Given the description of an element on the screen output the (x, y) to click on. 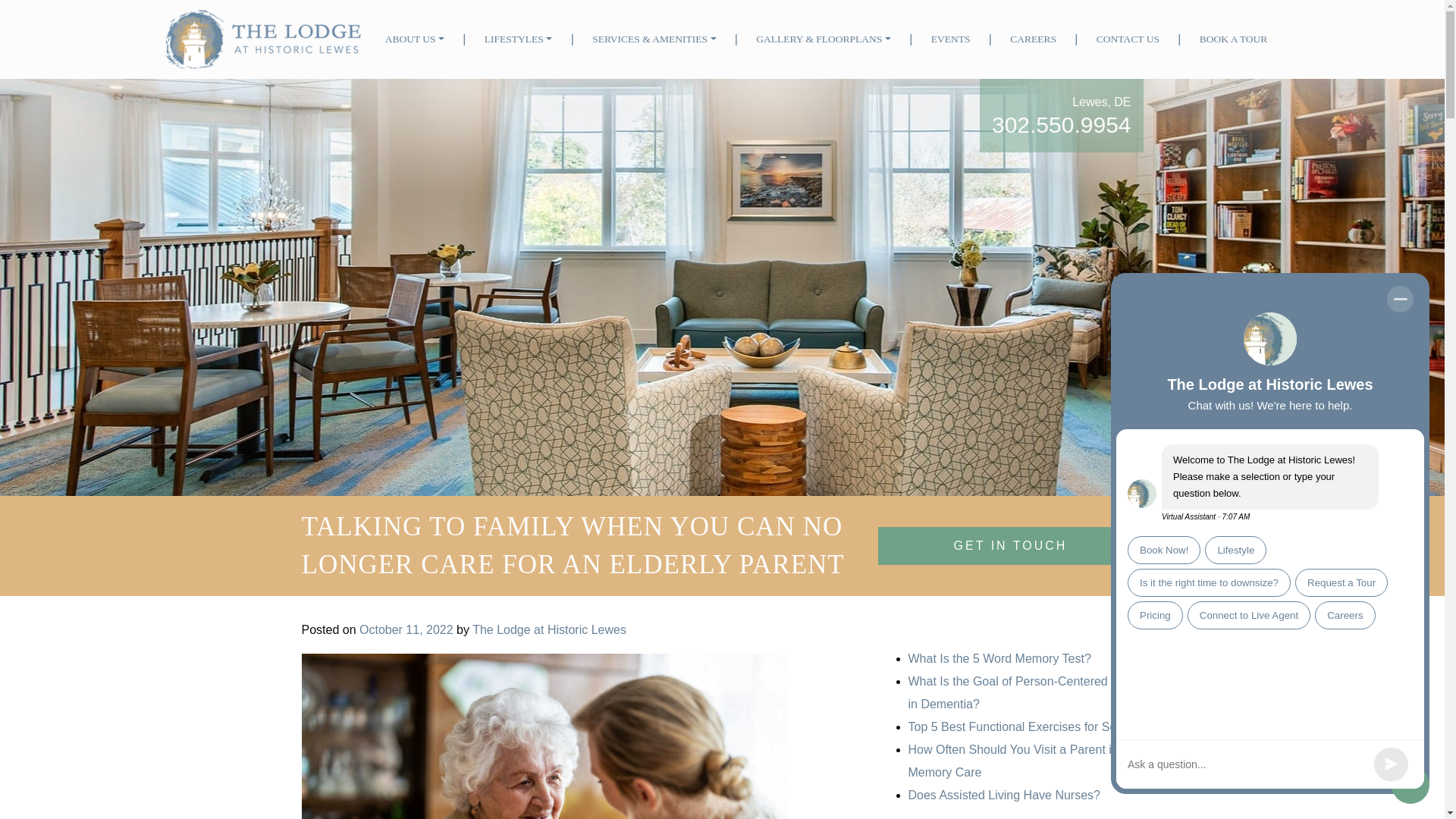
The Lodge at Historic Lewes (548, 629)
About Us (413, 39)
EVENTS (950, 39)
302.550.9954 (1061, 124)
Lifestyles (518, 39)
ABOUT US (413, 39)
CONTACT US (1128, 39)
BOOK A TOUR (1233, 39)
GET IN TOUCH (1009, 546)
LIFESTYLES (518, 39)
CAREERS (1033, 39)
October 11, 2022 (405, 629)
Events (950, 39)
